Given the description of an element on the screen output the (x, y) to click on. 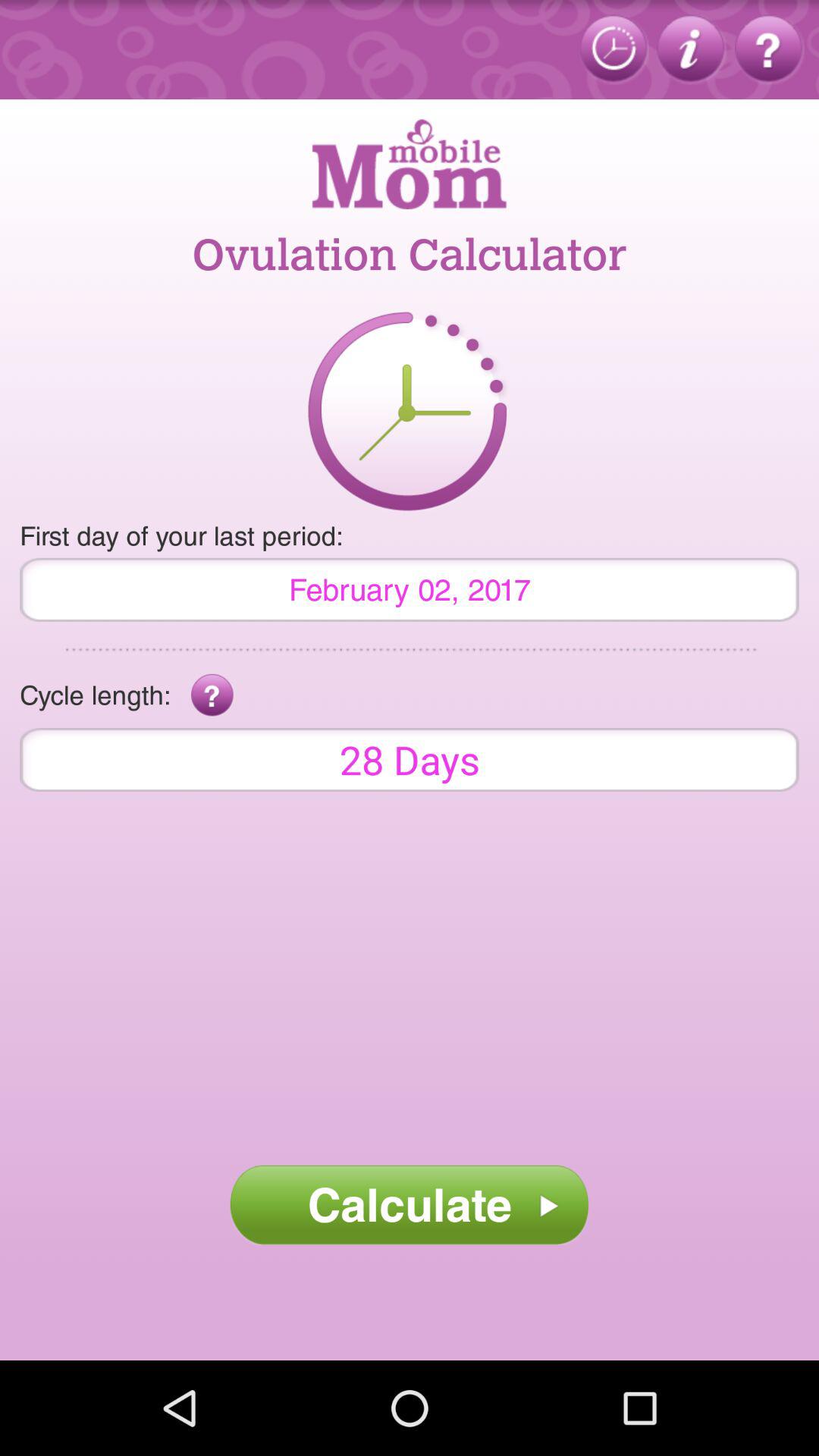
scroll to the february 02, 2017 (409, 589)
